Given the description of an element on the screen output the (x, y) to click on. 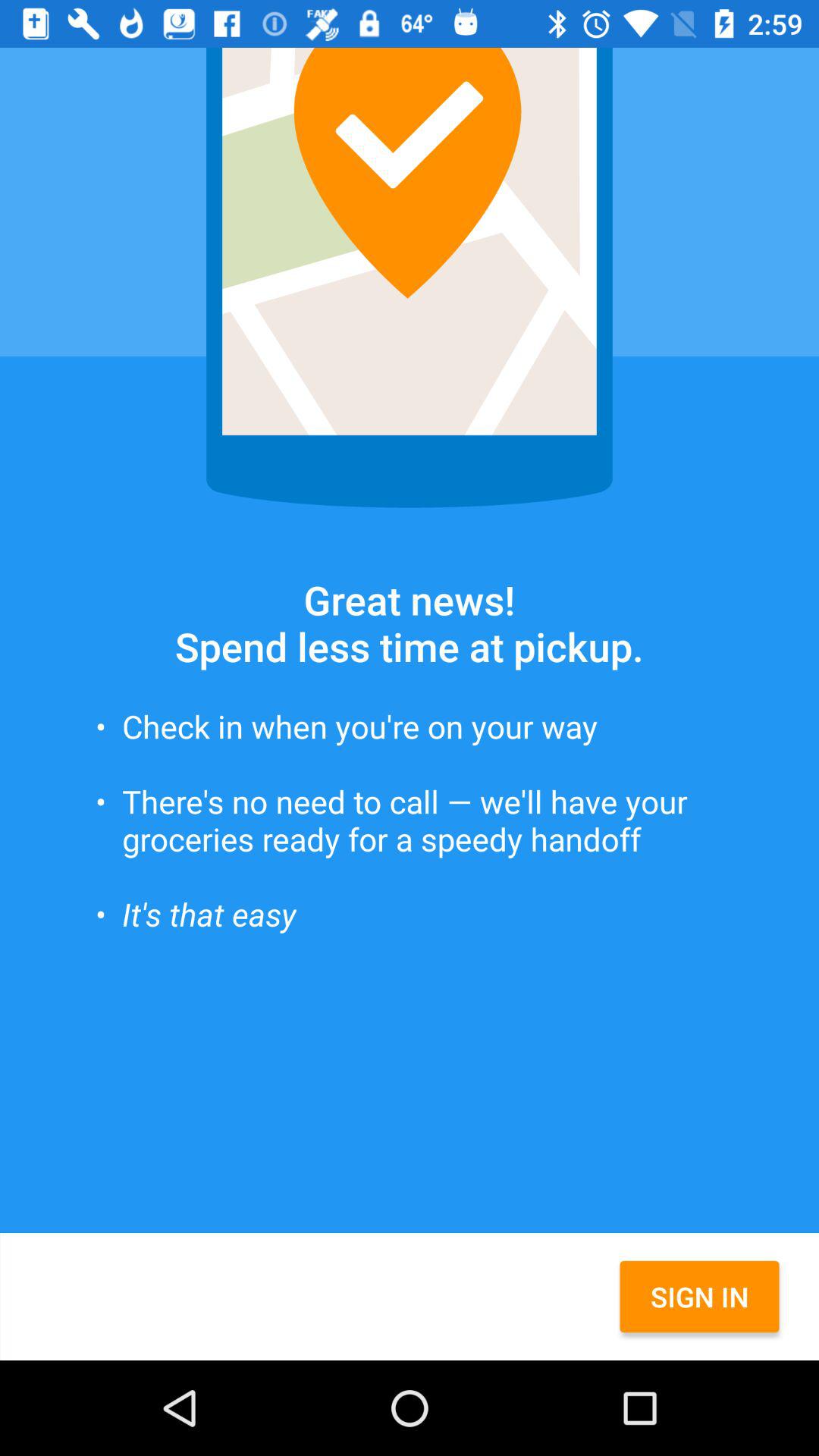
swipe until sign in item (699, 1296)
